Given the description of an element on the screen output the (x, y) to click on. 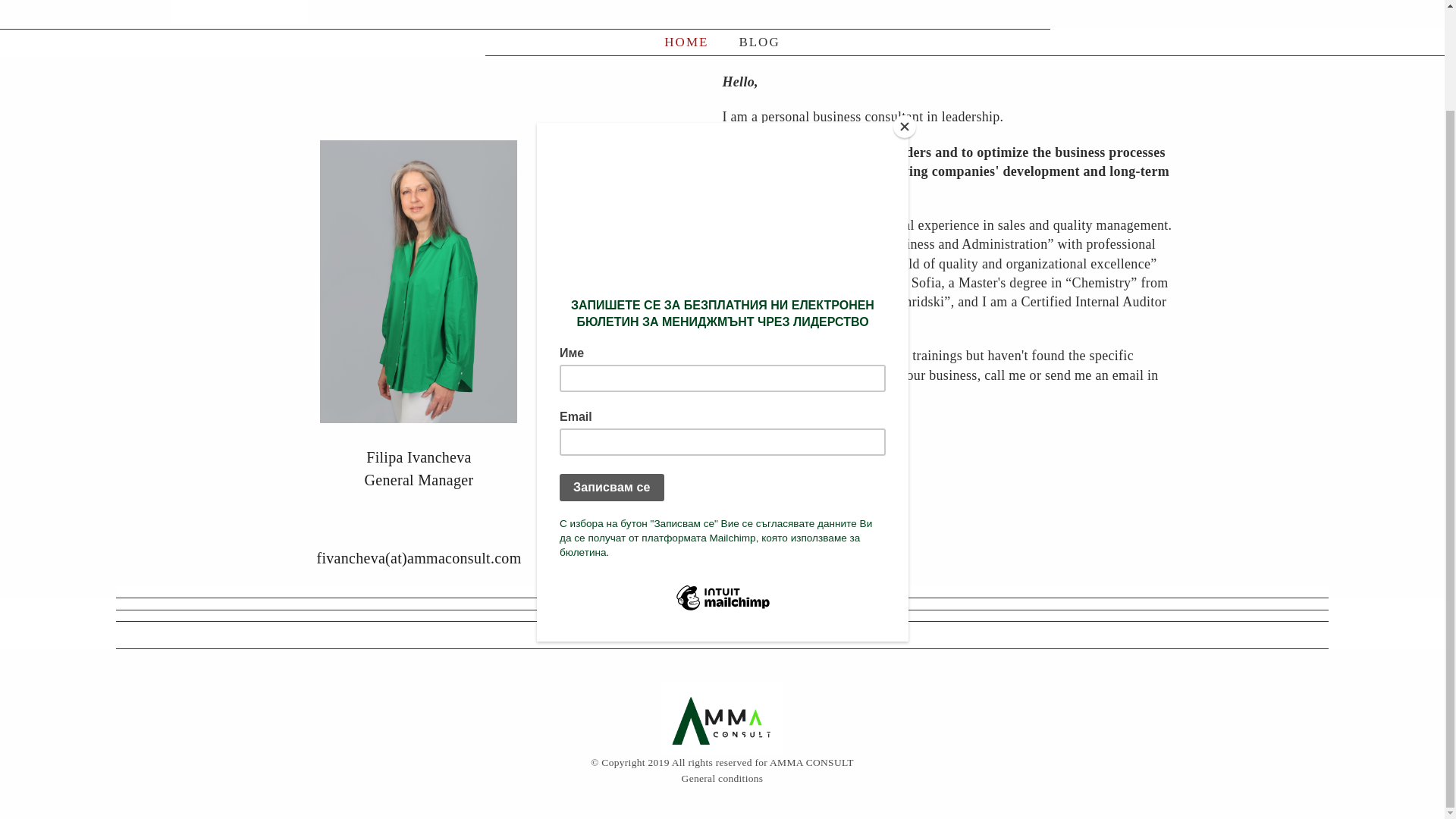
General conditions (721, 777)
BLOG (758, 42)
HOME (685, 42)
